Given the description of an element on the screen output the (x, y) to click on. 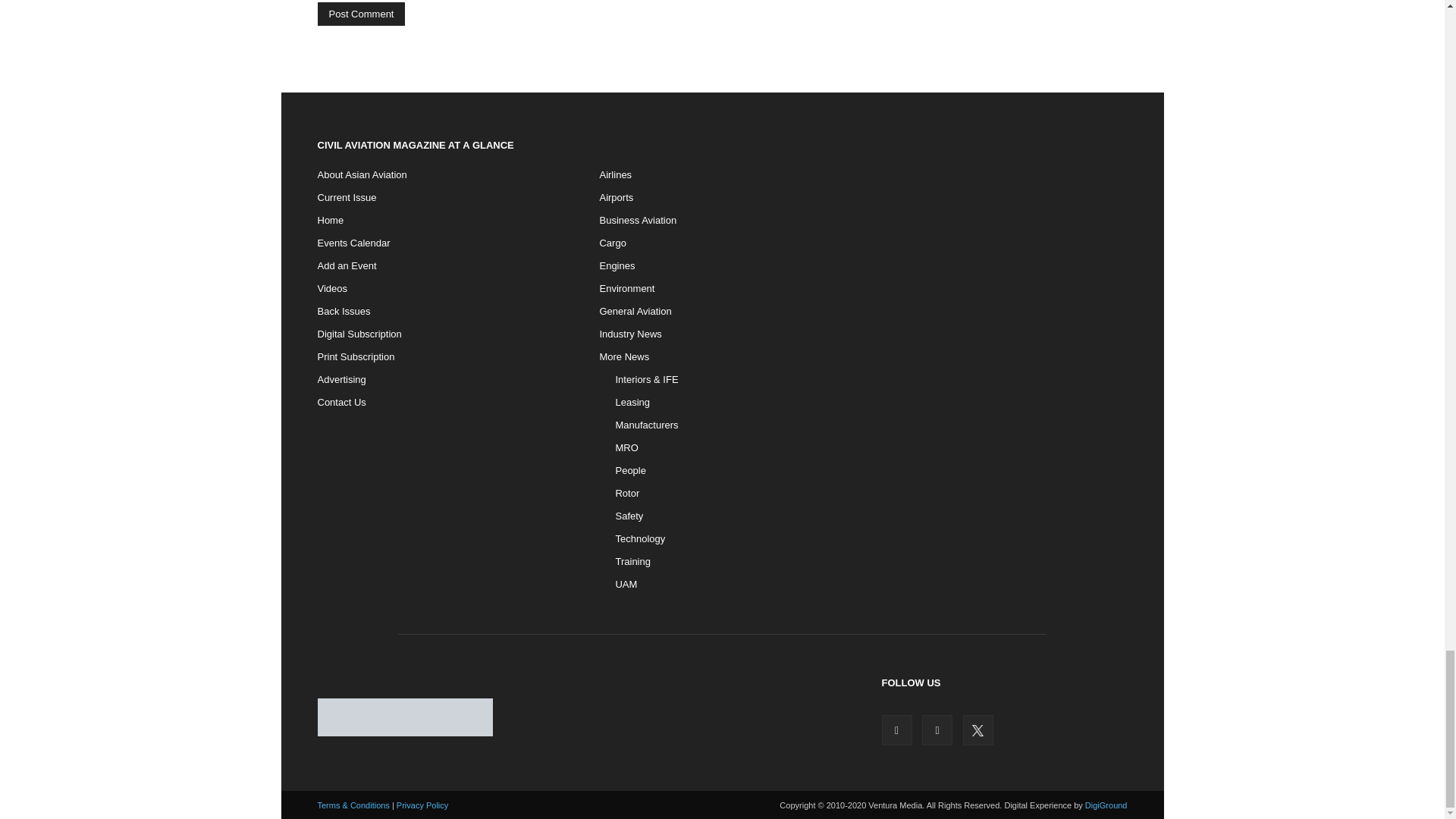
Post Comment (360, 13)
